Given the description of an element on the screen output the (x, y) to click on. 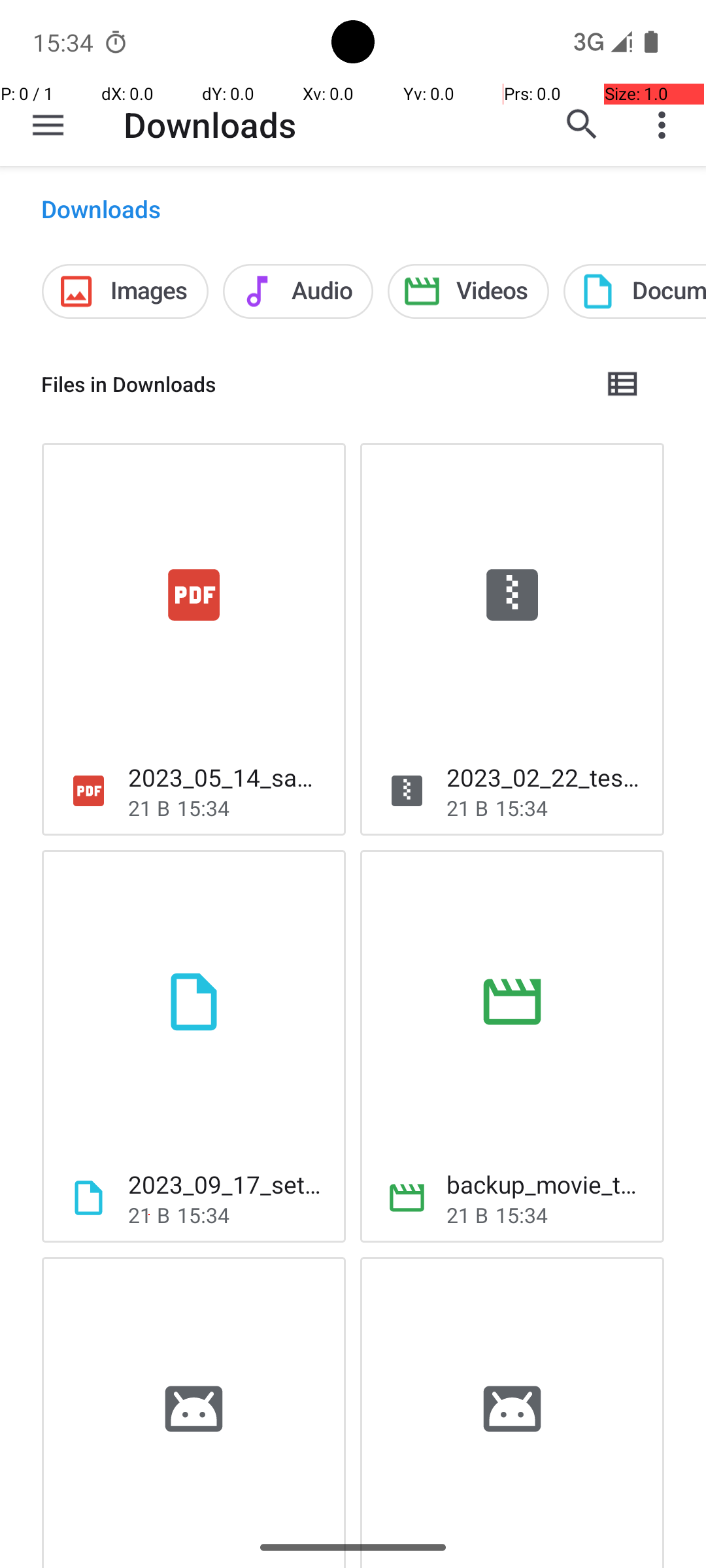
2023_05_14_sample_pdf.pdf Element type: android.widget.TextView (226, 776)
21 B Element type: android.widget.TextView (148, 807)
2023_02_22_test_download.zip Element type: android.widget.TextView (544, 776)
2023_09_17_setup_exe.exe Element type: android.widget.TextView (226, 1183)
backup_movie_trailer.mp4 Element type: android.widget.TextView (544, 1183)
